Given the description of an element on the screen output the (x, y) to click on. 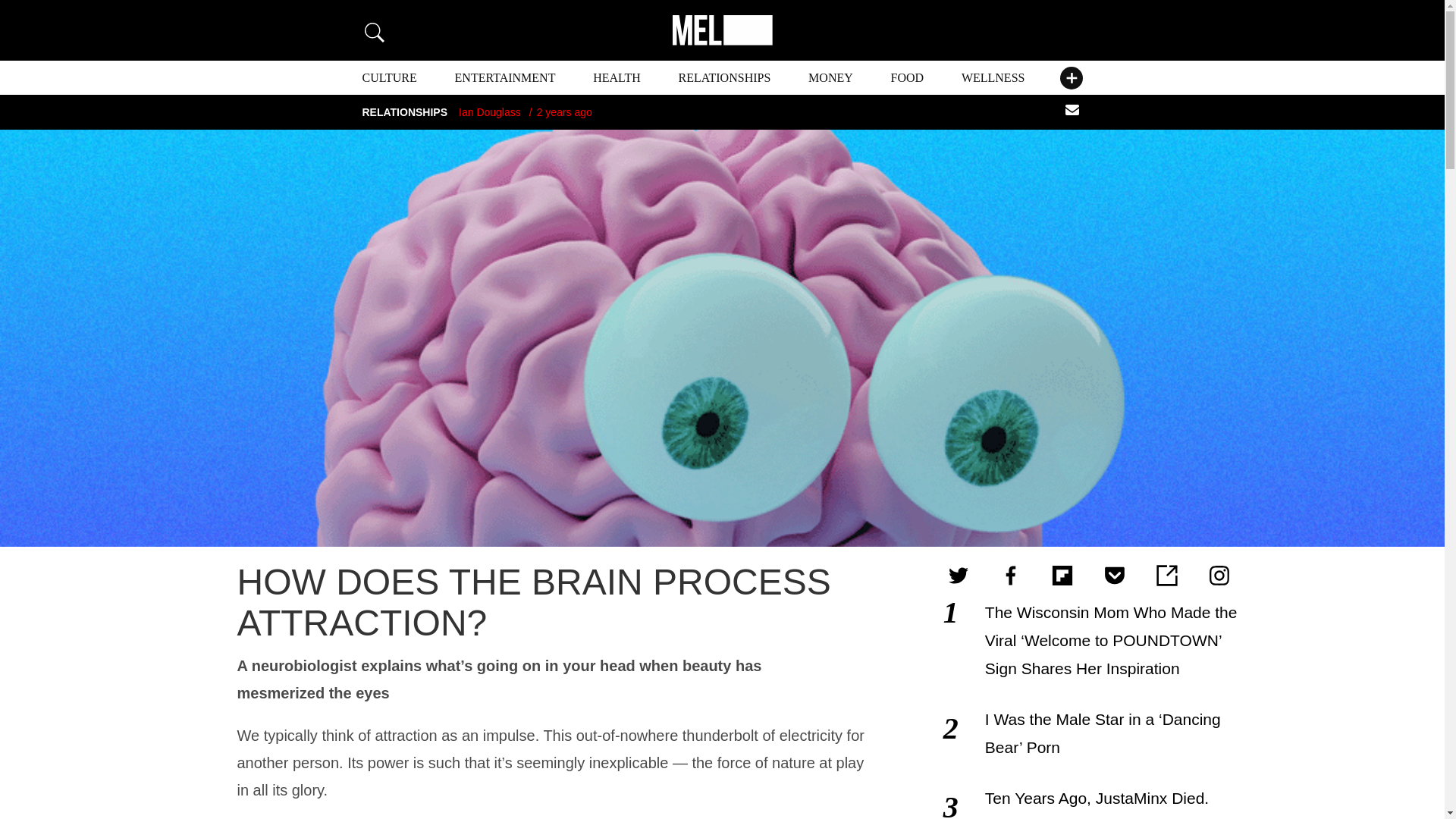
MONEY (830, 77)
CULTURE (389, 77)
WELLNESS (992, 77)
FOOD (907, 77)
Pocket (1114, 575)
Facebook (1010, 575)
RELATIONSHIPS (724, 77)
ENTERTAINMENT (505, 77)
MEL Magazine (721, 30)
Posts by Ian Douglass (489, 111)
